Given the description of an element on the screen output the (x, y) to click on. 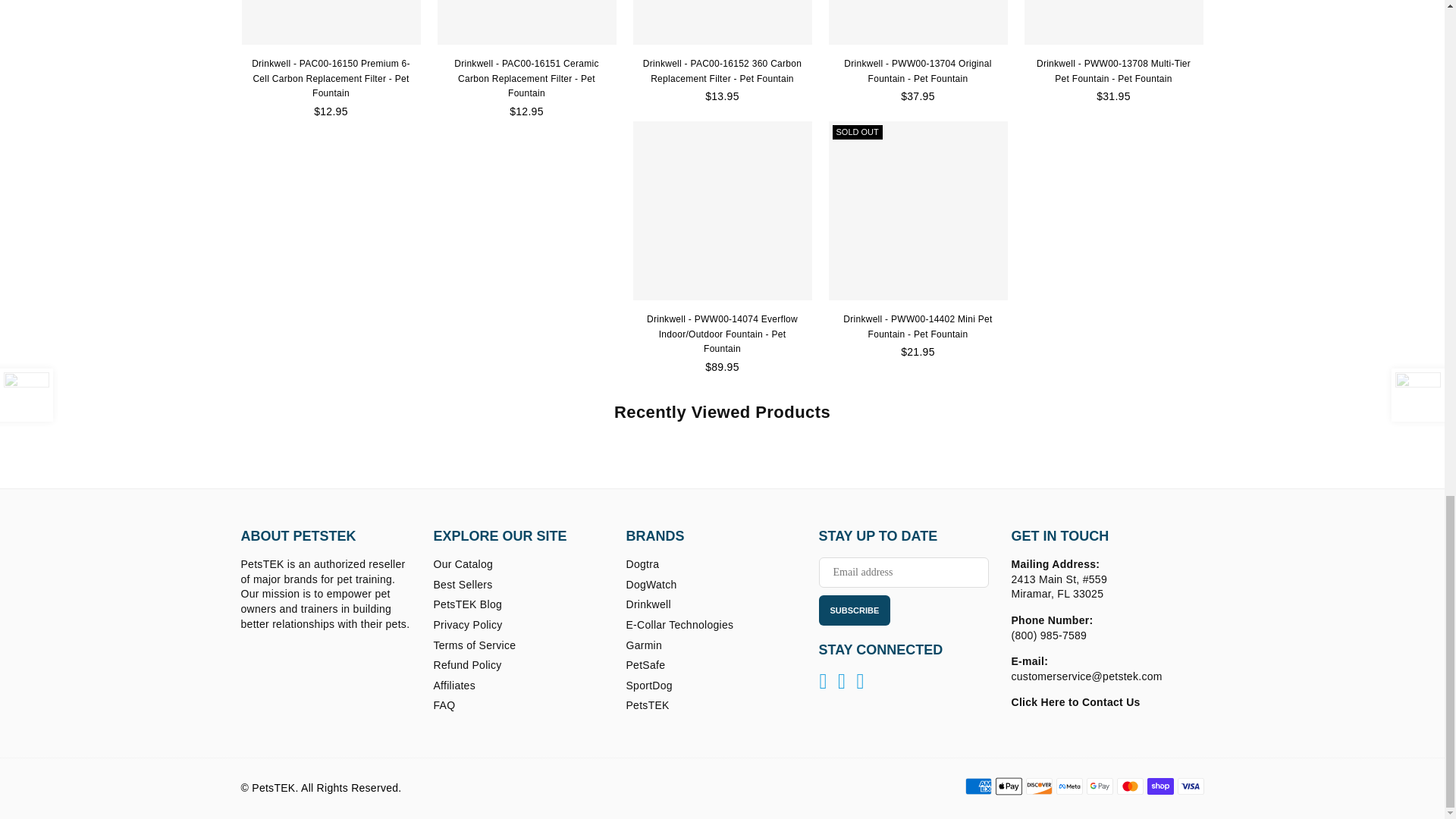
Shop Pay (1160, 786)
Apple Pay (1008, 786)
American Express (977, 786)
Discover (1038, 786)
Mastercard (1129, 786)
Meta Pay (1068, 786)
Google Pay (1099, 786)
Visa (1190, 786)
